Given the description of an element on the screen output the (x, y) to click on. 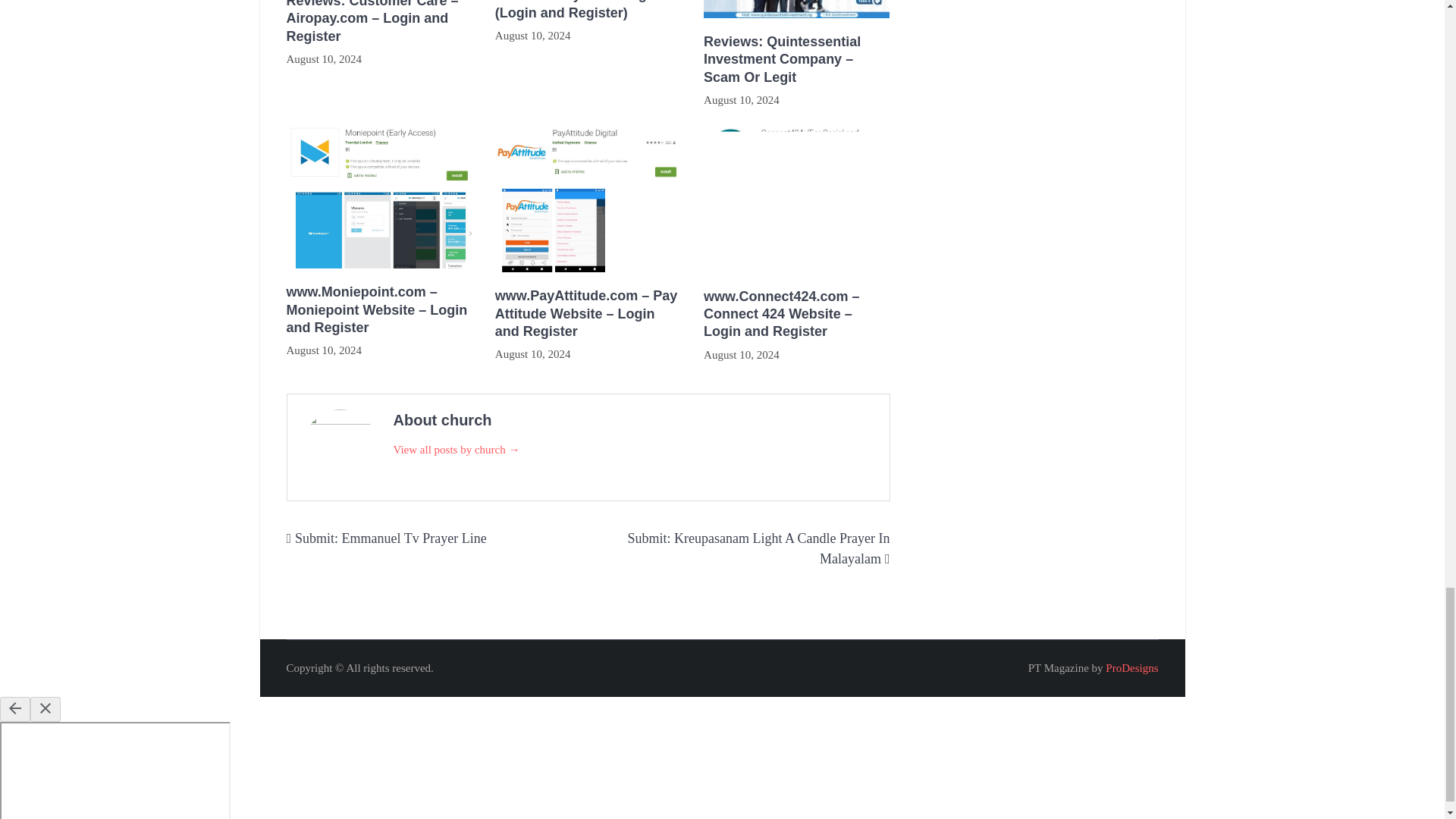
ProDesigns (1131, 667)
Submit: Emmanuel Tv Prayer Line (390, 538)
Submit: Kreupasanam Light A Candle Prayer In Malayalam (758, 548)
